Given the description of an element on the screen output the (x, y) to click on. 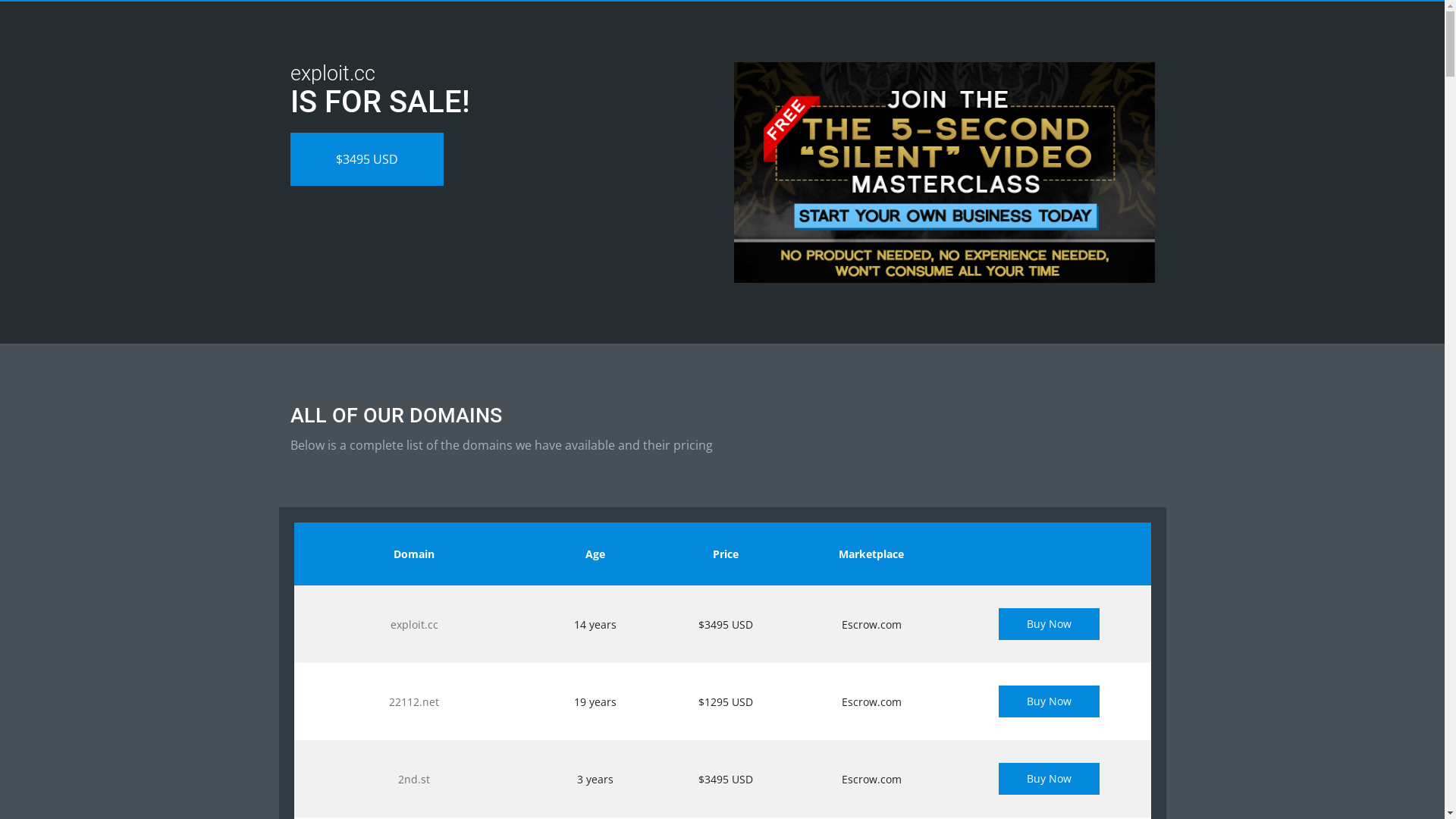
Freedom Accelerator Element type: hover (944, 172)
Buy Now Element type: text (1048, 778)
Buy Now Element type: text (1048, 624)
22112.net Element type: text (414, 701)
$3495 USD Element type: text (365, 158)
2nd.st Element type: text (413, 778)
exploit.cc Element type: text (414, 624)
Buy Now Element type: text (1048, 701)
